Given the description of an element on the screen output the (x, y) to click on. 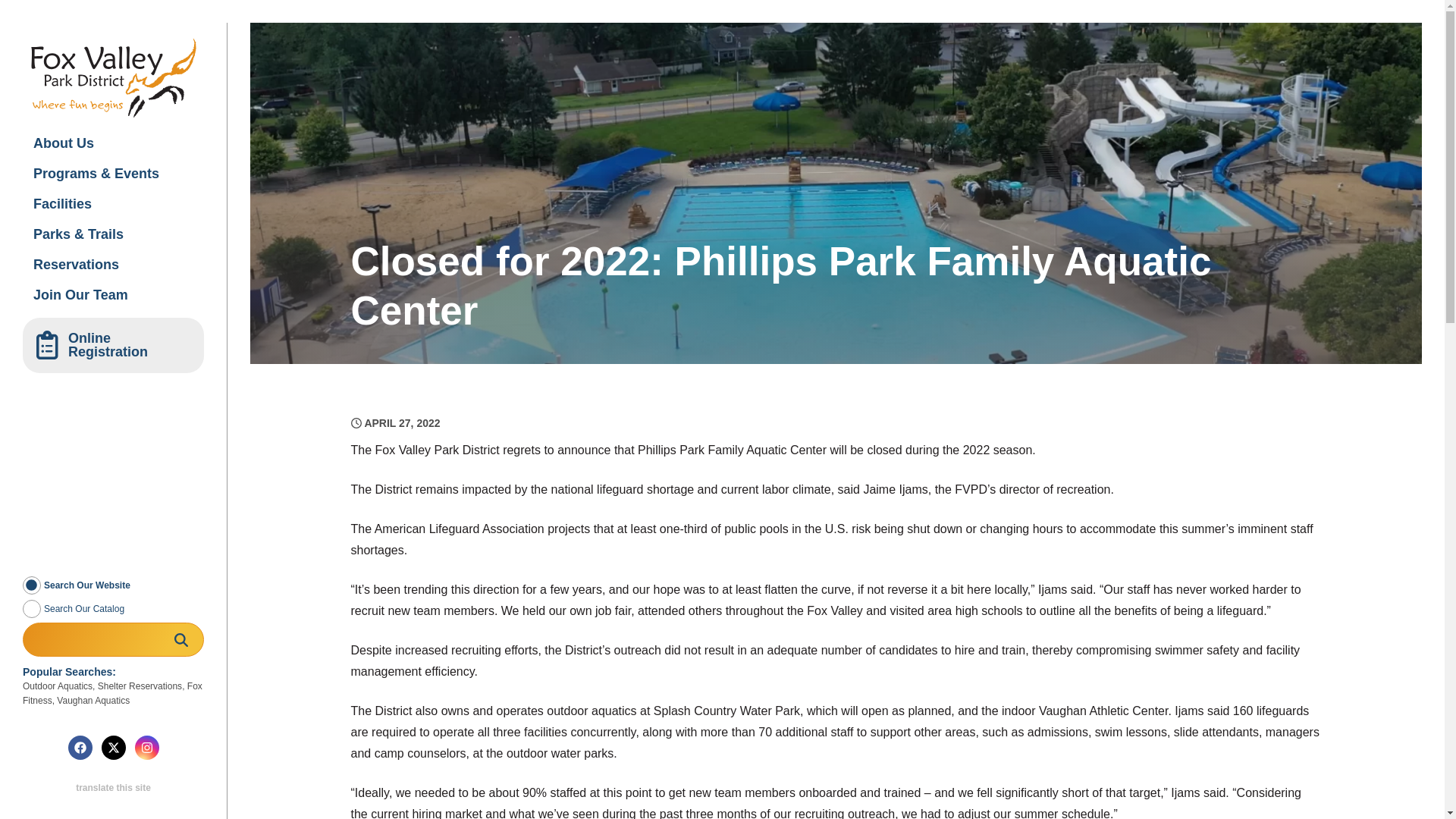
About Us (113, 142)
Search for: (113, 639)
catalog (31, 608)
website (31, 585)
website (31, 585)
catalog (31, 608)
